Given the description of an element on the screen output the (x, y) to click on. 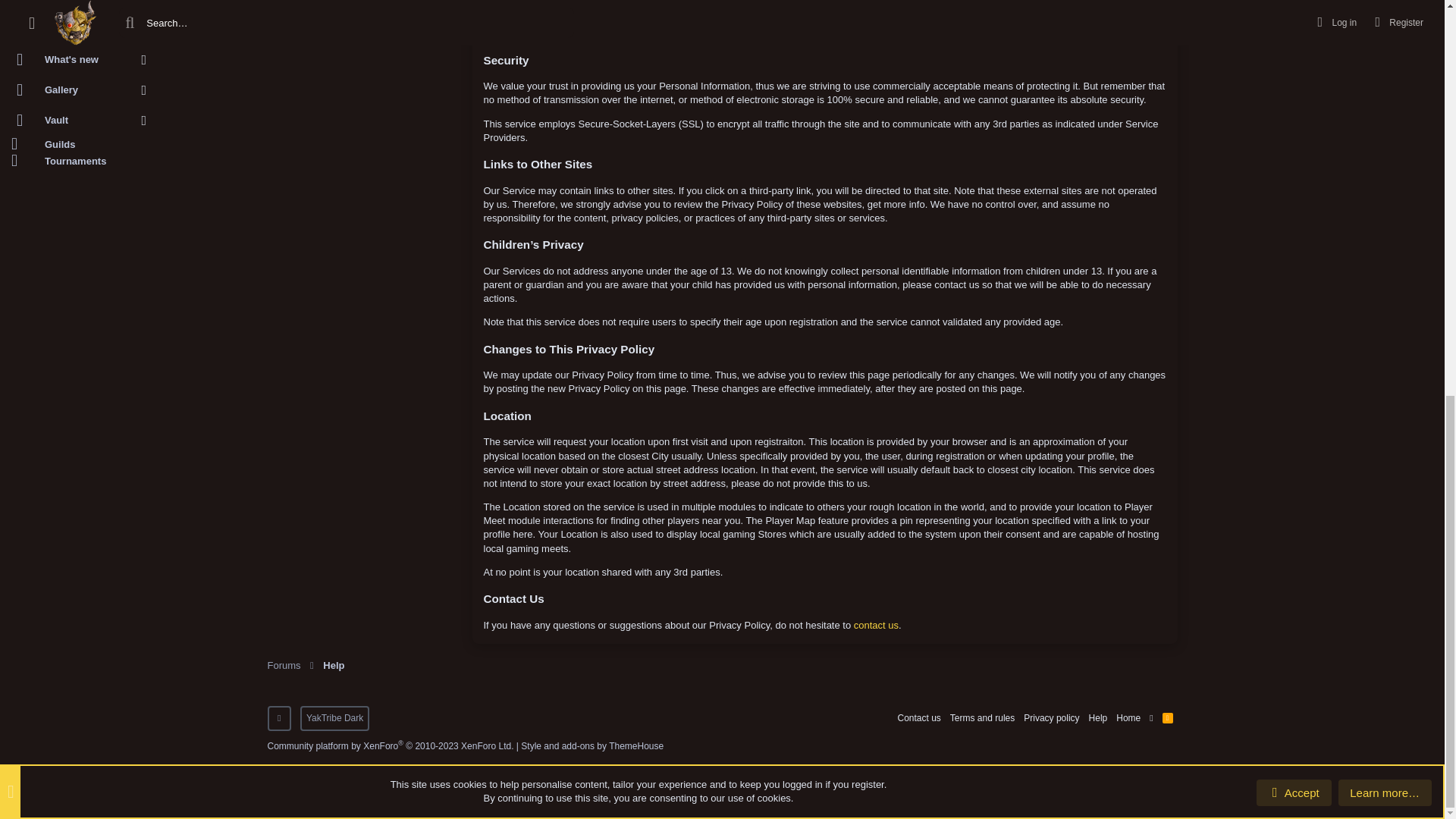
RSS (1167, 718)
Toggle width (277, 718)
Contact Us (875, 624)
Style chooser (334, 718)
